Given the description of an element on the screen output the (x, y) to click on. 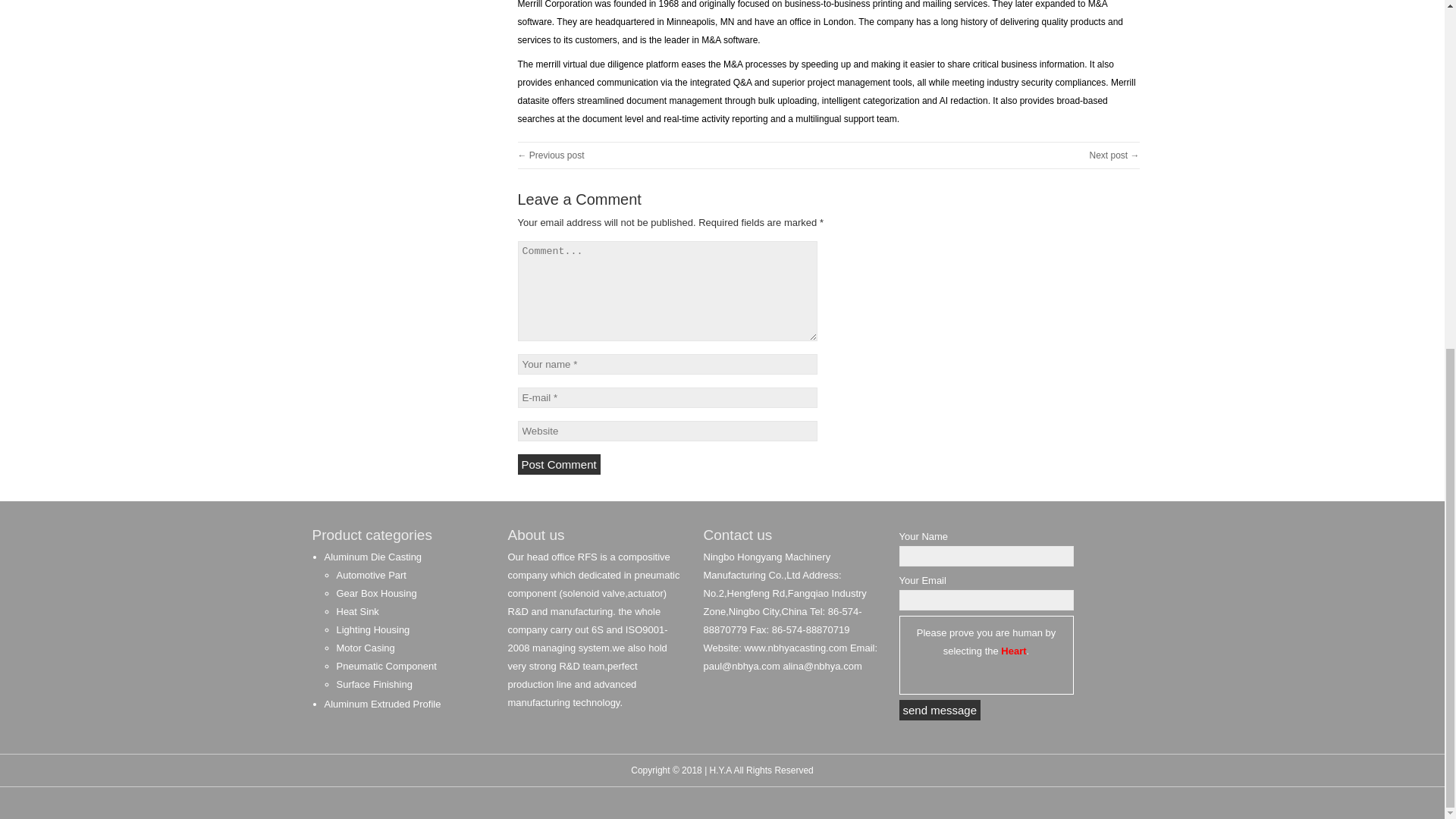
Aluminum Extruded Profile (382, 704)
Surface Finishing (374, 684)
Lighting Housing (373, 629)
Aluminum Die Casting (373, 556)
send message (940, 710)
Motor Casing (365, 647)
Post Comment (557, 464)
Post Comment (557, 464)
Automotive Part (371, 574)
Heat Sink (357, 611)
Gear Box Housing (376, 593)
send message (940, 710)
Pneumatic Component (386, 665)
